Given the description of an element on the screen output the (x, y) to click on. 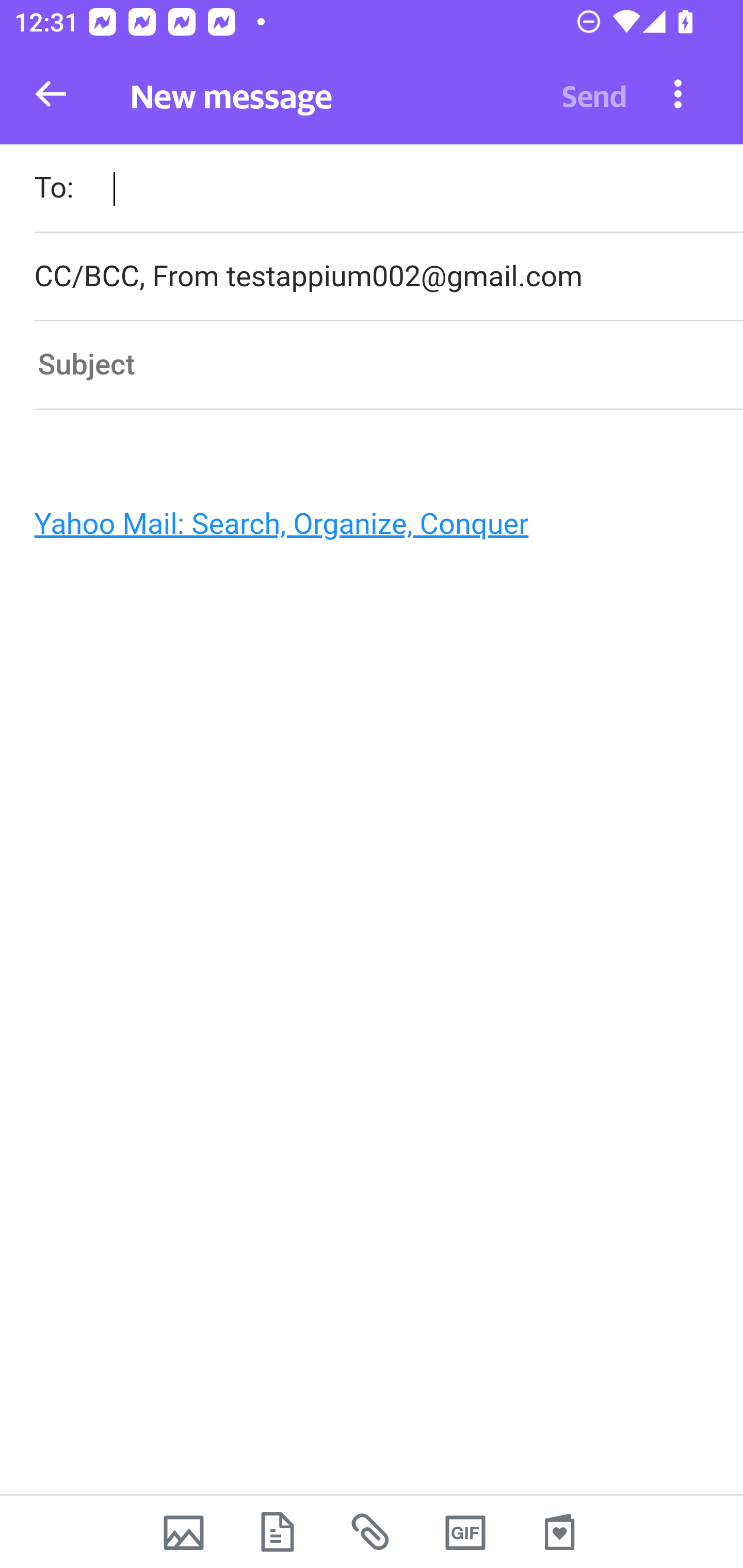
Back (50, 93)
Send (594, 93)
More options (677, 93)
To: (387, 189)
CC/BCC, From testappium002@gmail.com (387, 276)


Yahoo Mail: Search, Organize, Conquer (363, 528)
Camera photos (183, 1531)
Device files (277, 1531)
Recent attachments from mail (371, 1531)
GIFs (465, 1531)
Stationery (559, 1531)
